Given the description of an element on the screen output the (x, y) to click on. 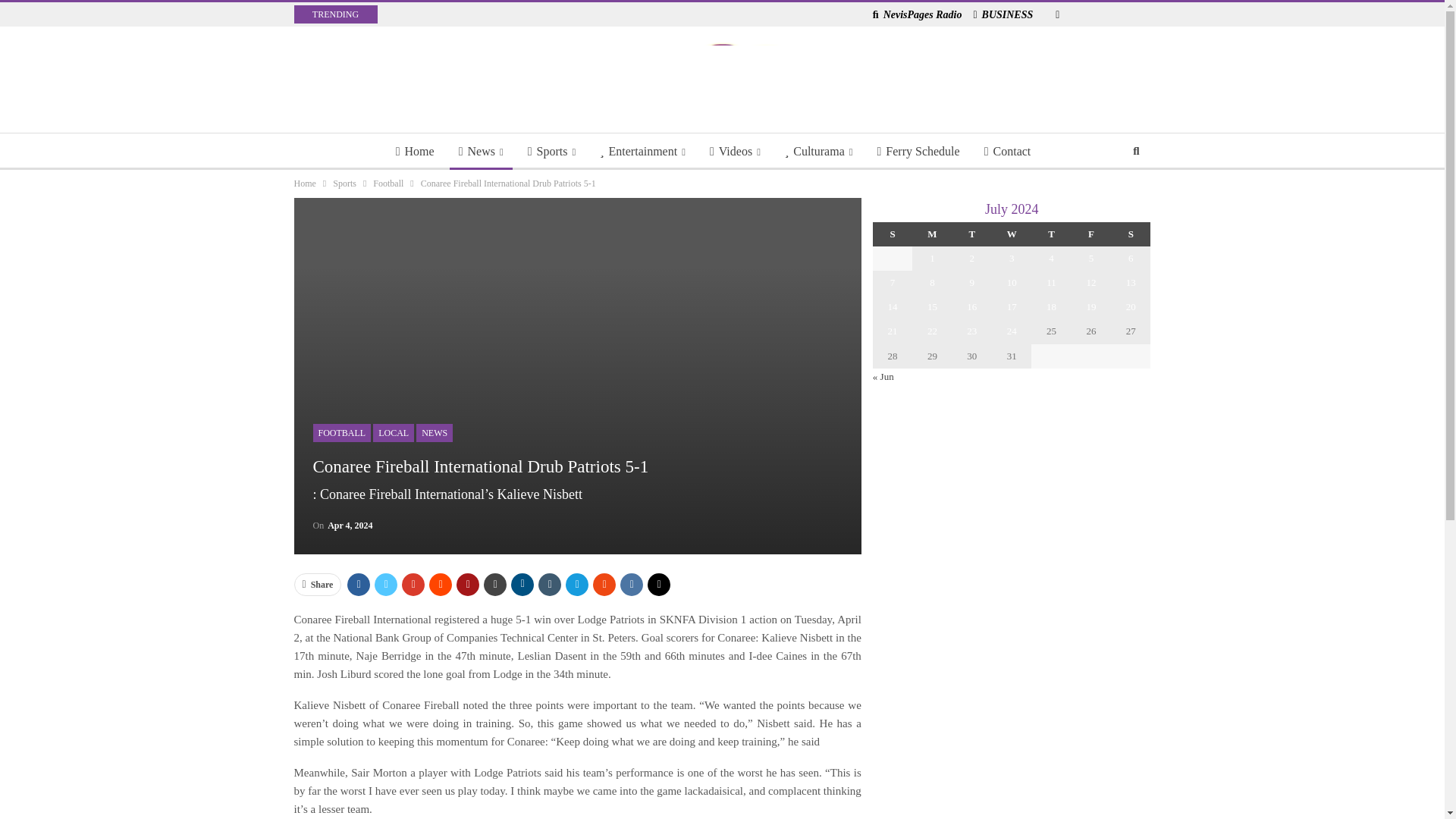
Home (415, 151)
BUSINESS (1002, 14)
News (480, 151)
NevisPages Radio (917, 14)
